Given the description of an element on the screen output the (x, y) to click on. 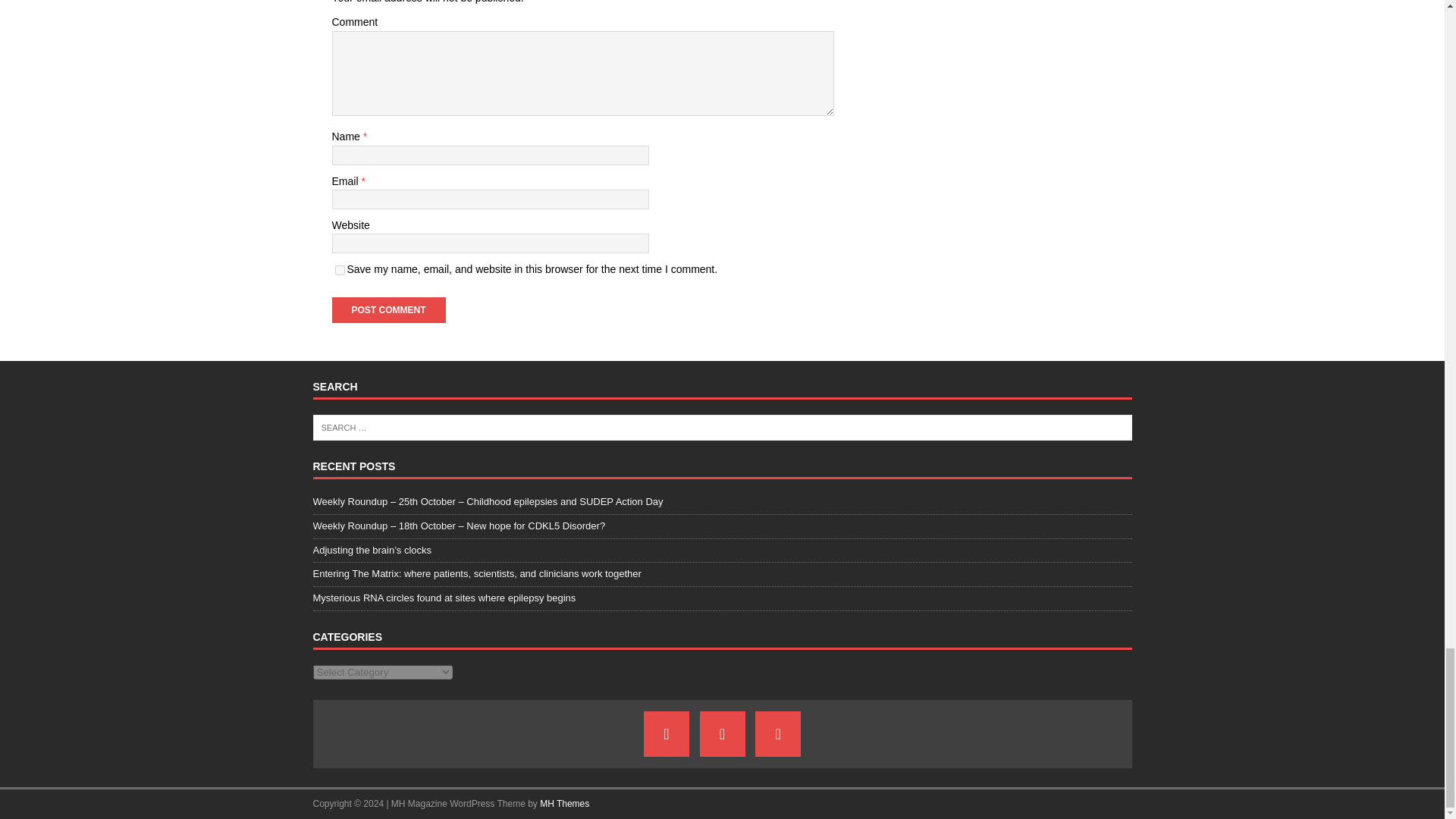
yes (339, 270)
Premium WordPress Themes (564, 803)
Post Comment (388, 309)
